Given the description of an element on the screen output the (x, y) to click on. 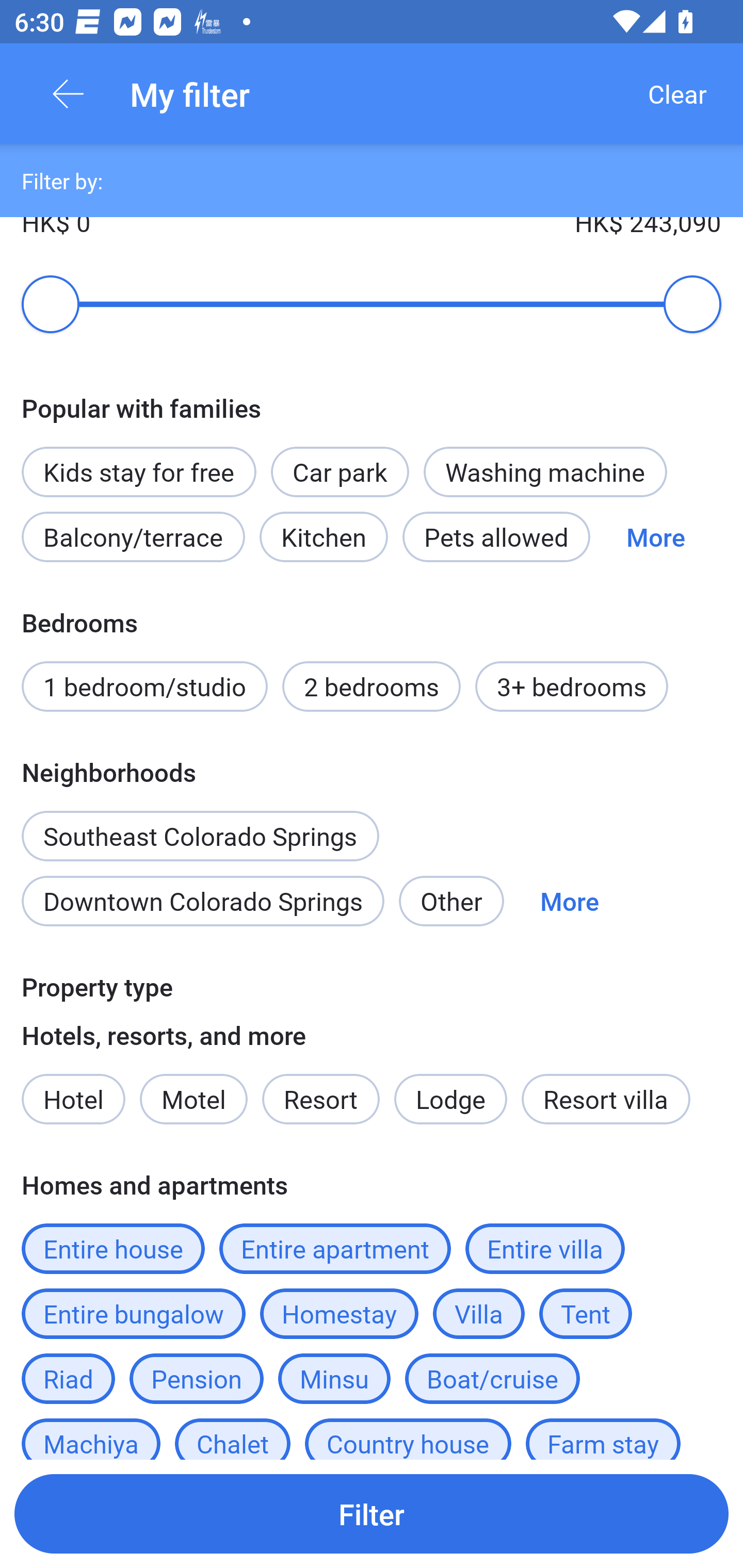
Clear (676, 93)
Kids stay for free (138, 471)
Car park (340, 471)
Washing machine (545, 471)
Balcony/terrace (133, 536)
Kitchen (323, 536)
Pets allowed (495, 536)
More (655, 536)
1 bedroom/studio (144, 685)
2 bedrooms (371, 685)
3+ bedrooms (571, 685)
Southeast Colorado Springs (199, 825)
Downtown Colorado Springs (202, 900)
Other (450, 900)
More (569, 900)
Hotel (73, 1099)
Motel (193, 1099)
Resort (320, 1099)
Lodge (450, 1099)
Resort villa (605, 1099)
Filter (371, 1513)
